Given the description of an element on the screen output the (x, y) to click on. 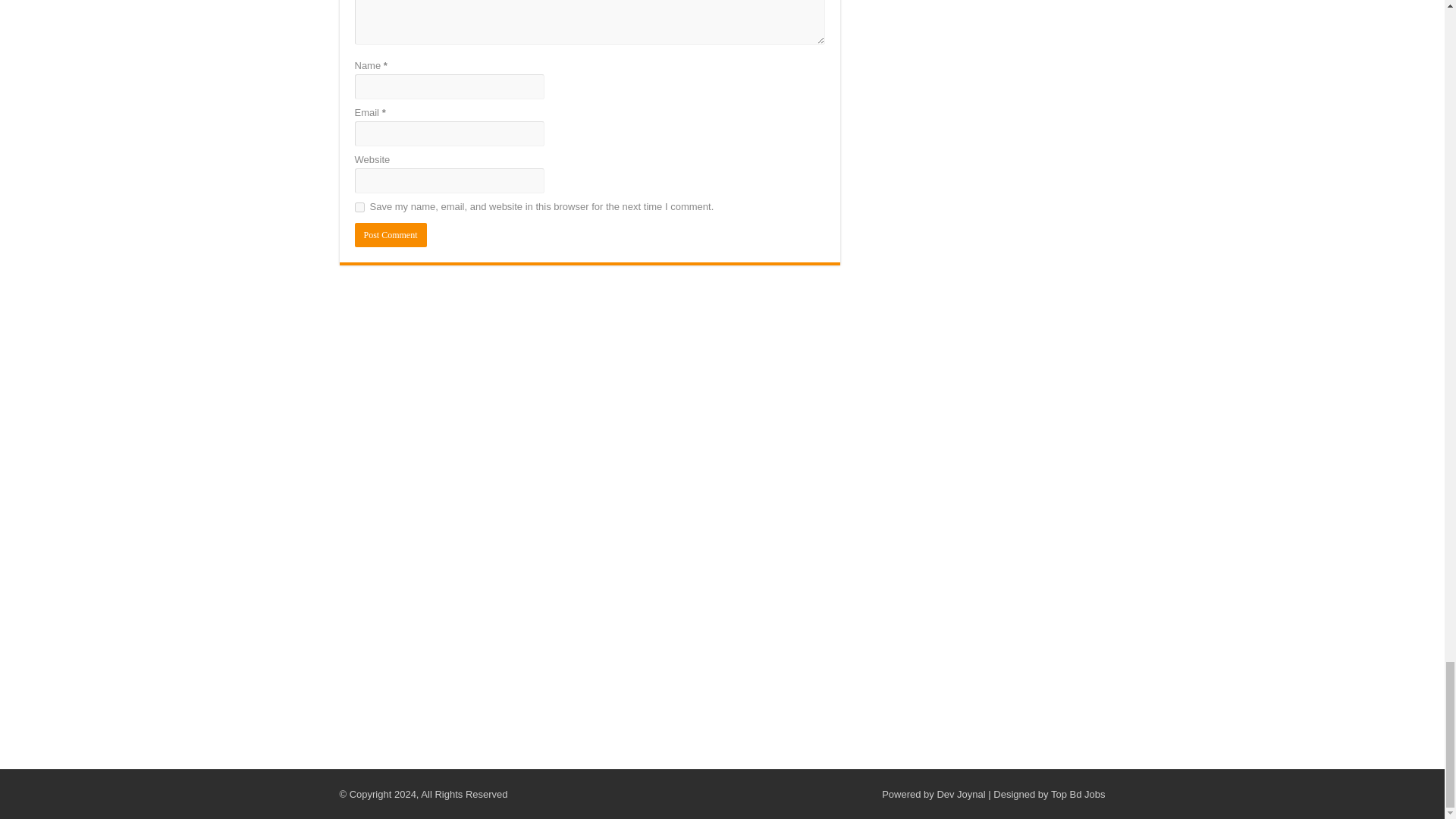
Post Comment (390, 234)
yes (360, 207)
